Given the description of an element on the screen output the (x, y) to click on. 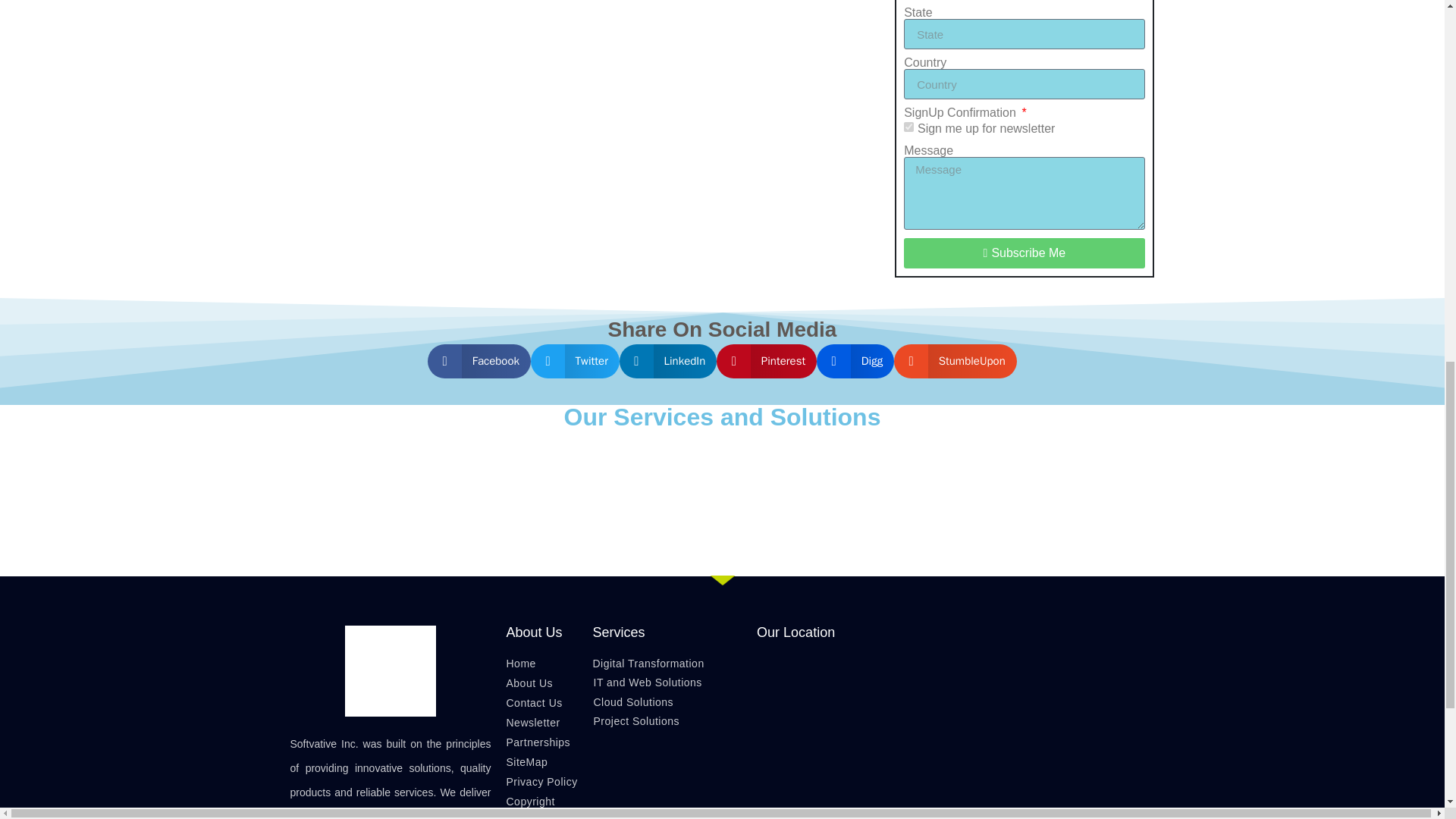
on (909, 126)
